Given the description of an element on the screen output the (x, y) to click on. 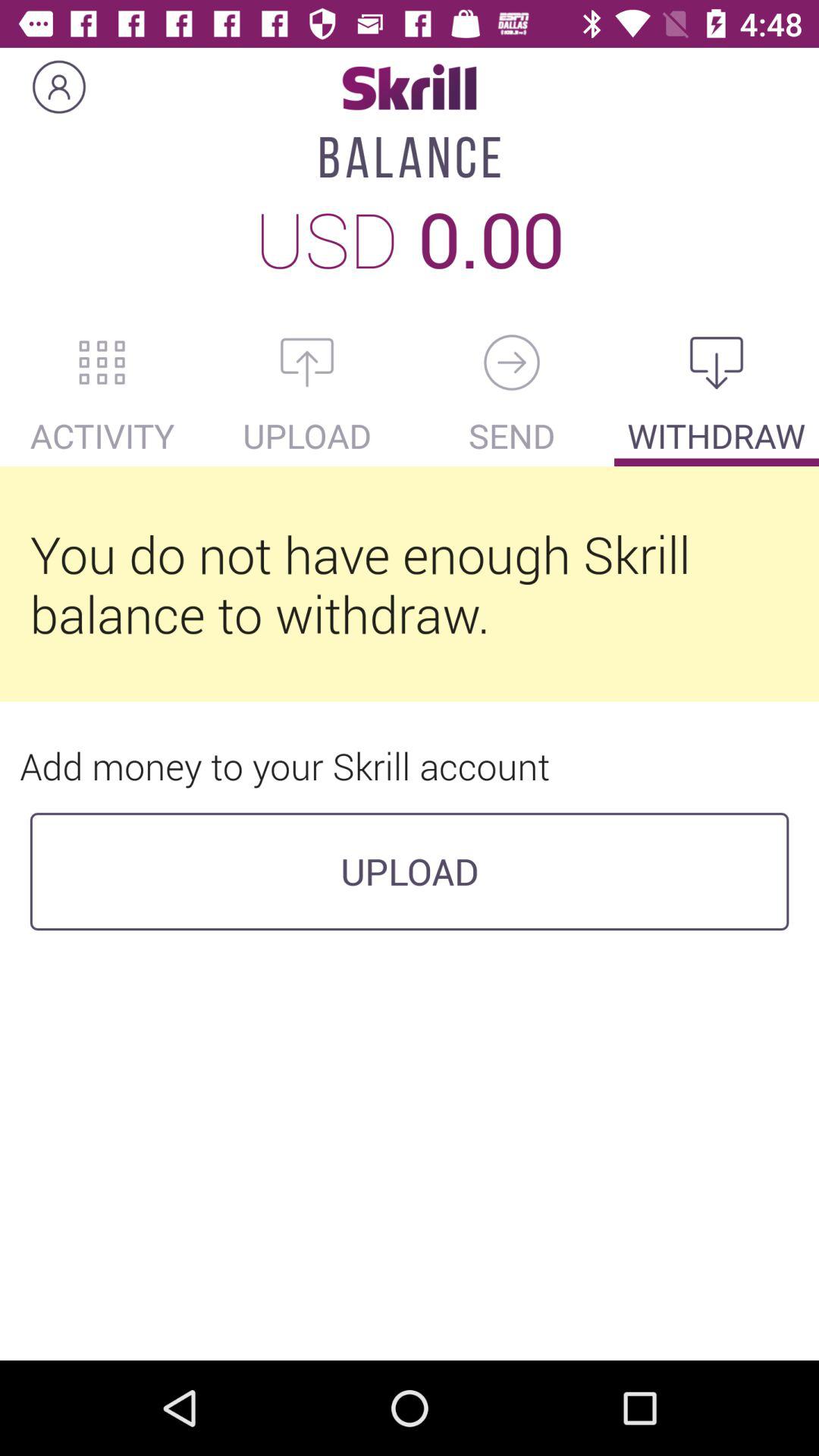
send option (511, 362)
